Given the description of an element on the screen output the (x, y) to click on. 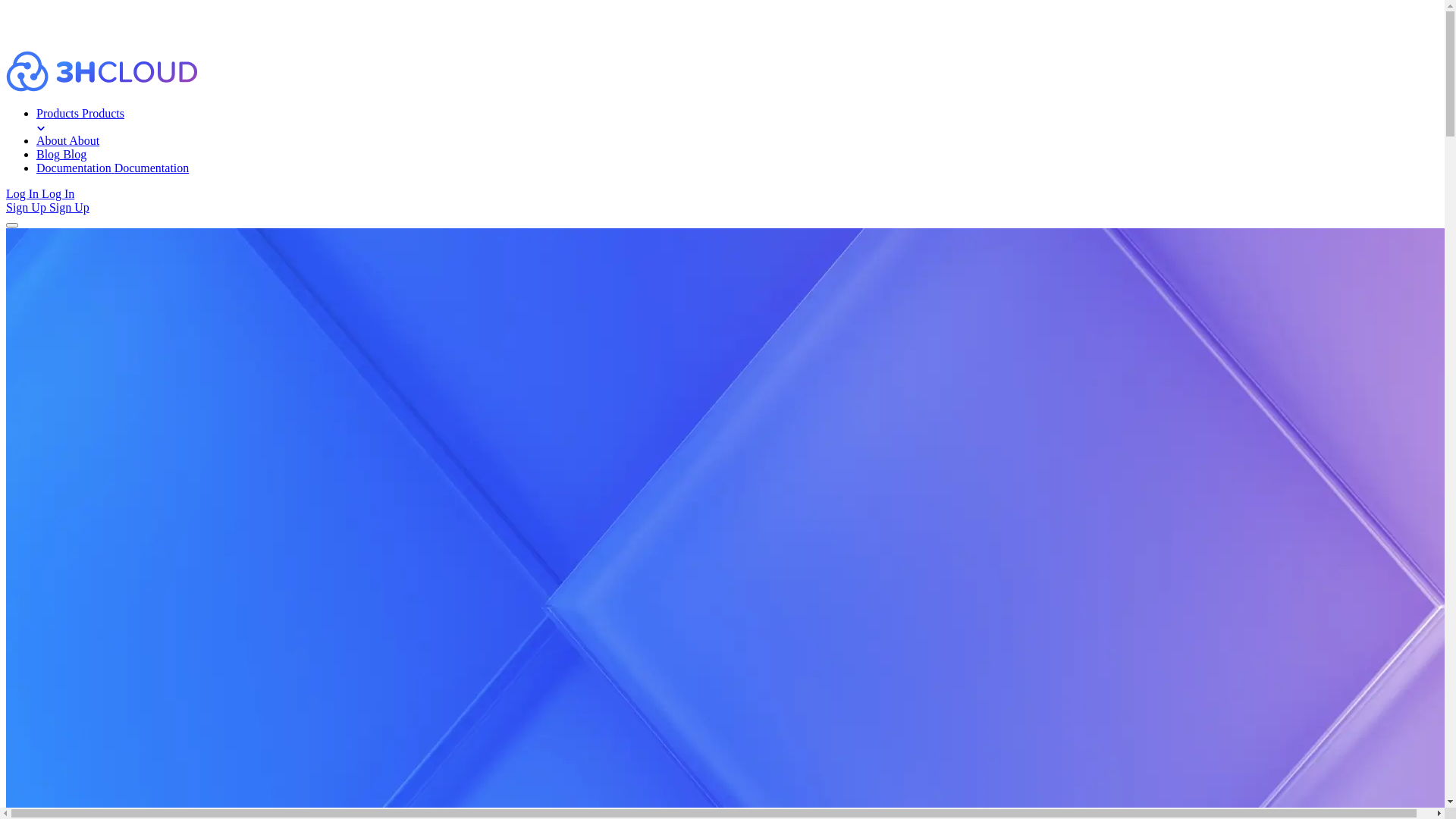
Documentation Documentation Element type: text (737, 168)
Sign Up Sign Up Element type: text (722, 213)
Products Products Element type: text (737, 120)
Blog Blog Element type: text (737, 154)
Log In Log In Element type: text (722, 193)
About About Element type: text (737, 140)
